Given the description of an element on the screen output the (x, y) to click on. 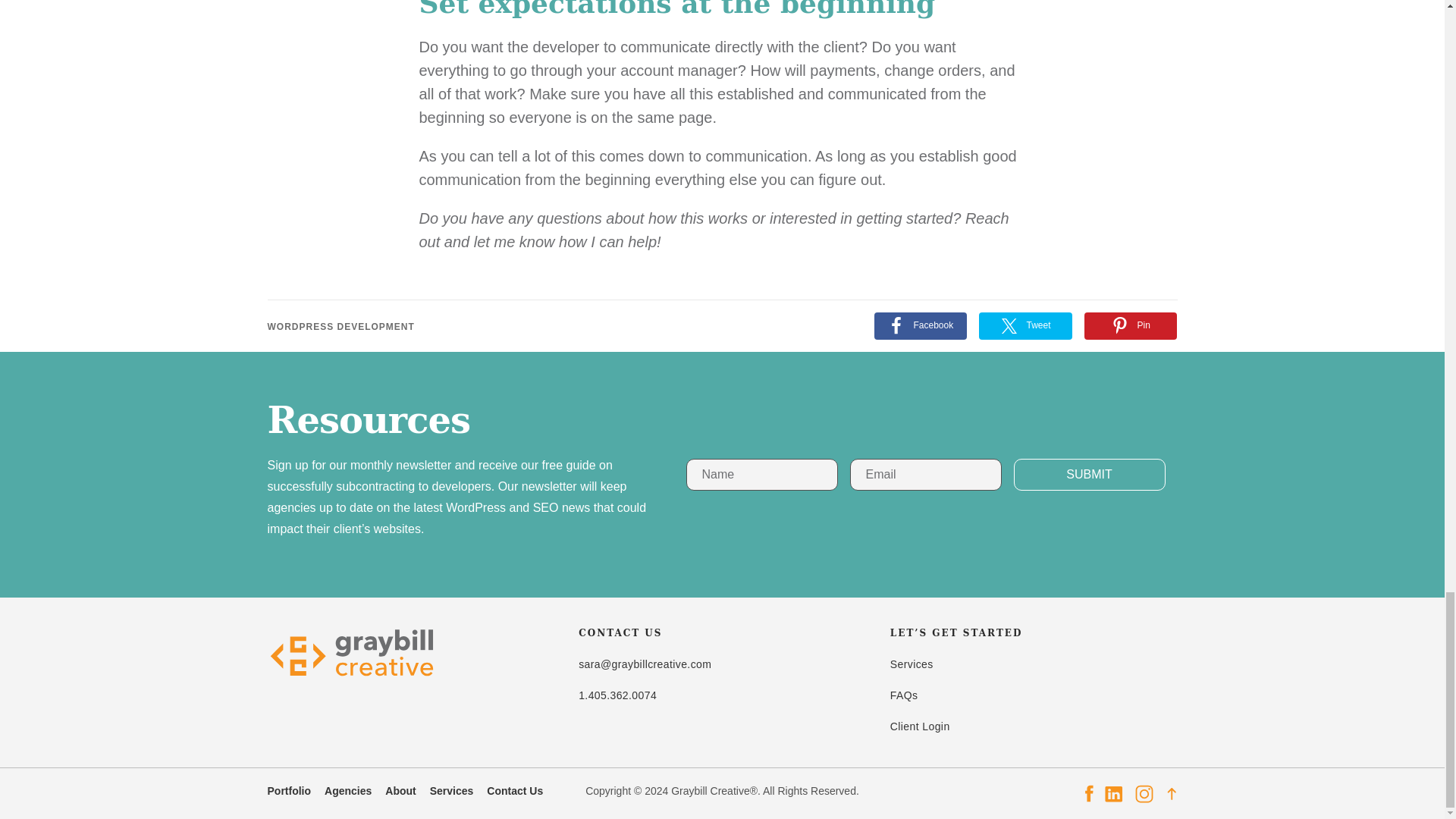
Client Login (919, 726)
About (407, 792)
Submit (1088, 474)
WORDPRESS DEVELOPMENT (339, 326)
Linked In (1112, 793)
Pin (1130, 325)
instagram (1143, 793)
Portfolio (295, 792)
Tweet (1024, 325)
Share on Facebook (919, 325)
Submit (1088, 474)
Services (458, 792)
Share on Twitter (1024, 325)
Share on Pinterest (1130, 325)
Facebook (919, 325)
